Given the description of an element on the screen output the (x, y) to click on. 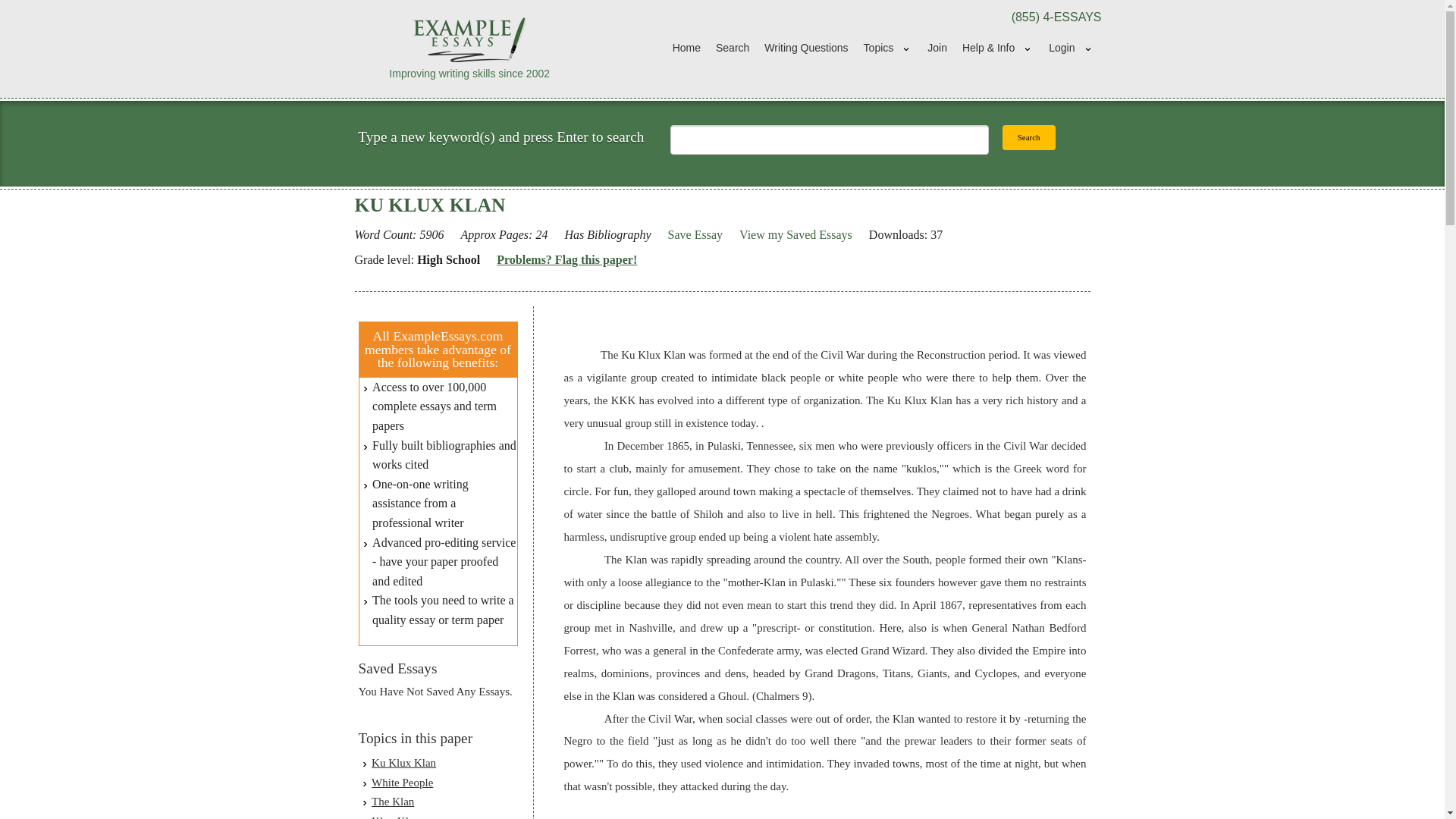
Search (1029, 137)
Search (732, 48)
Klux Klan (395, 816)
White People (401, 782)
The Klan (392, 801)
Writing Questions (806, 48)
Join (937, 48)
View my Saved Essays (795, 234)
Improving writing skills since 2002 (470, 48)
Home (686, 48)
Save Essay (695, 234)
Topics (888, 48)
Click here to save this paper for future access (695, 234)
Problems? Flag this paper! (566, 260)
Ku Klux Klan (403, 762)
